Given the description of an element on the screen output the (x, y) to click on. 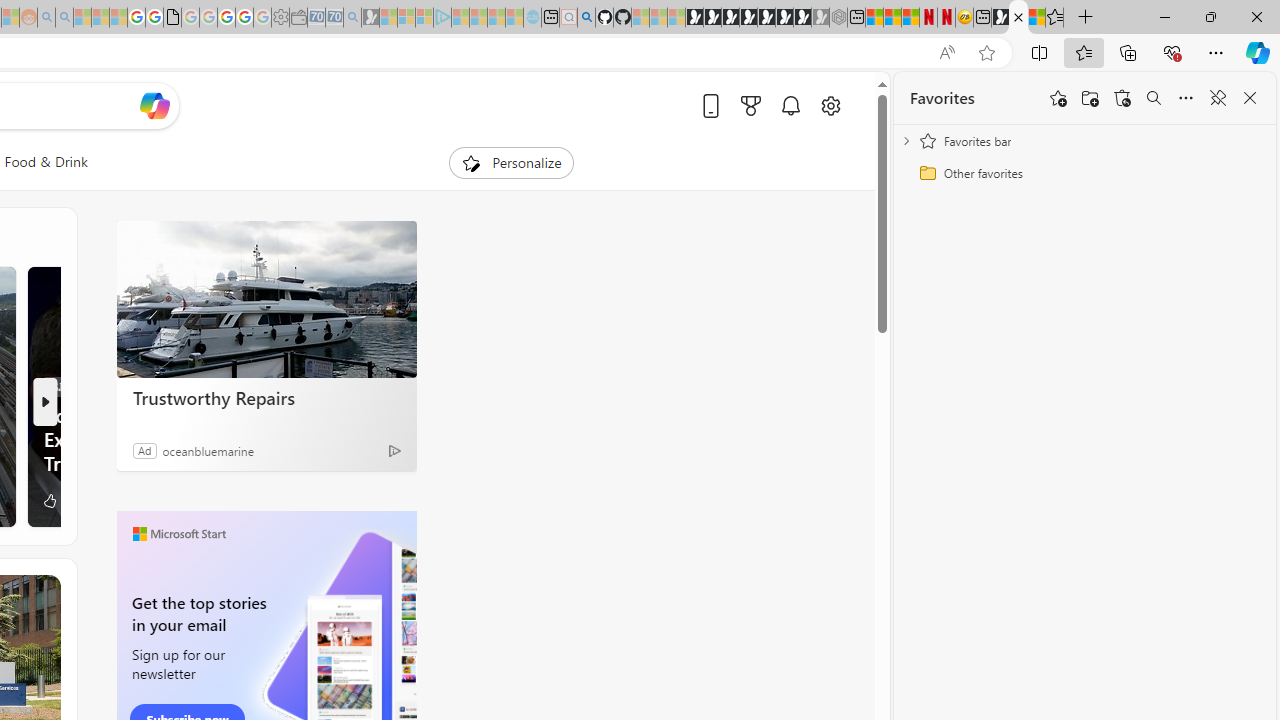
Search favorites (1153, 98)
Restore deleted favorites (1122, 98)
225 Like (61, 500)
